Given the description of an element on the screen output the (x, y) to click on. 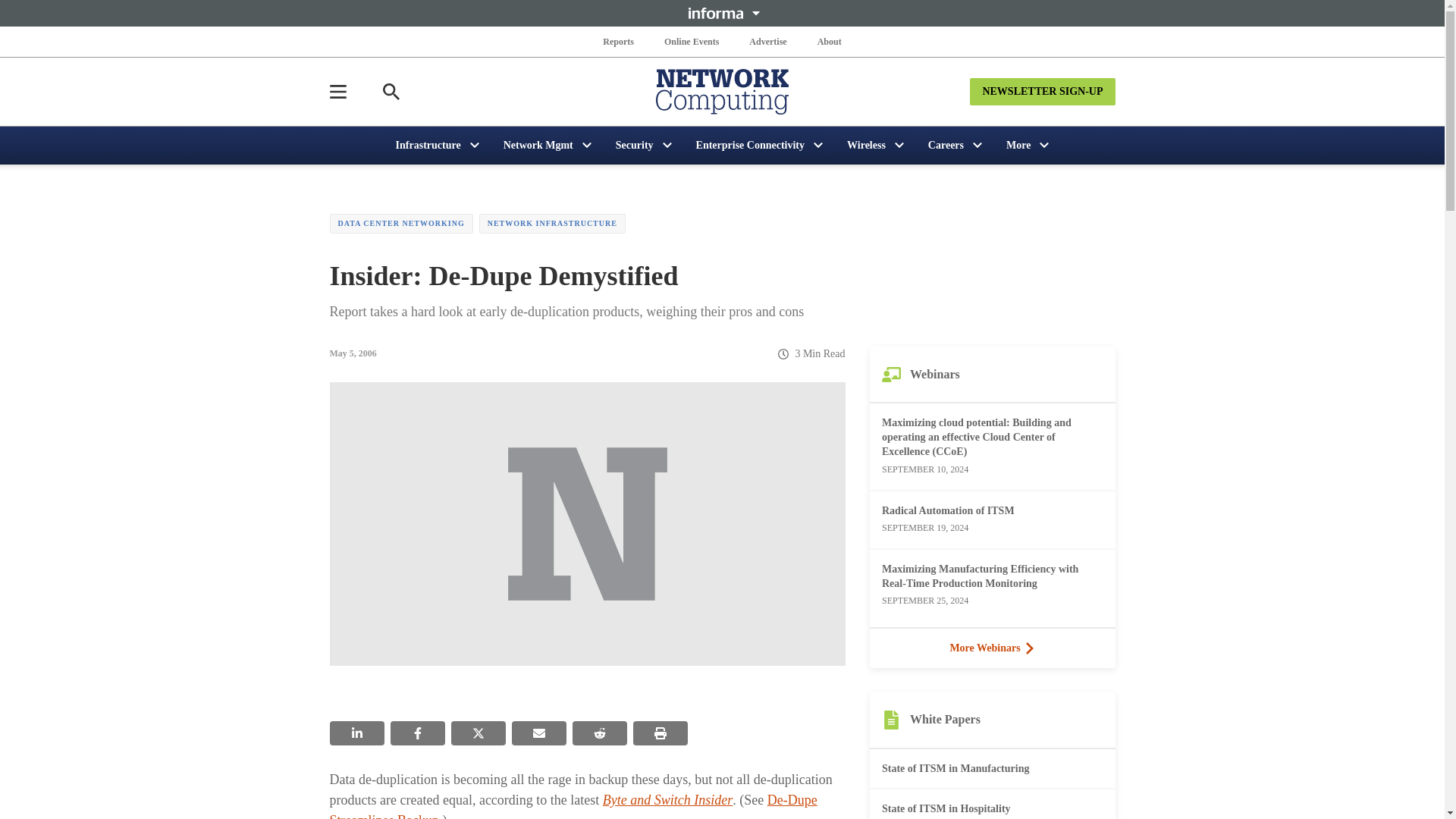
NEWSLETTER SIGN-UP (1042, 90)
Reports (618, 41)
Online Events (691, 41)
Advertise (767, 41)
Network Computing Logo (722, 91)
About (828, 41)
